Given the description of an element on the screen output the (x, y) to click on. 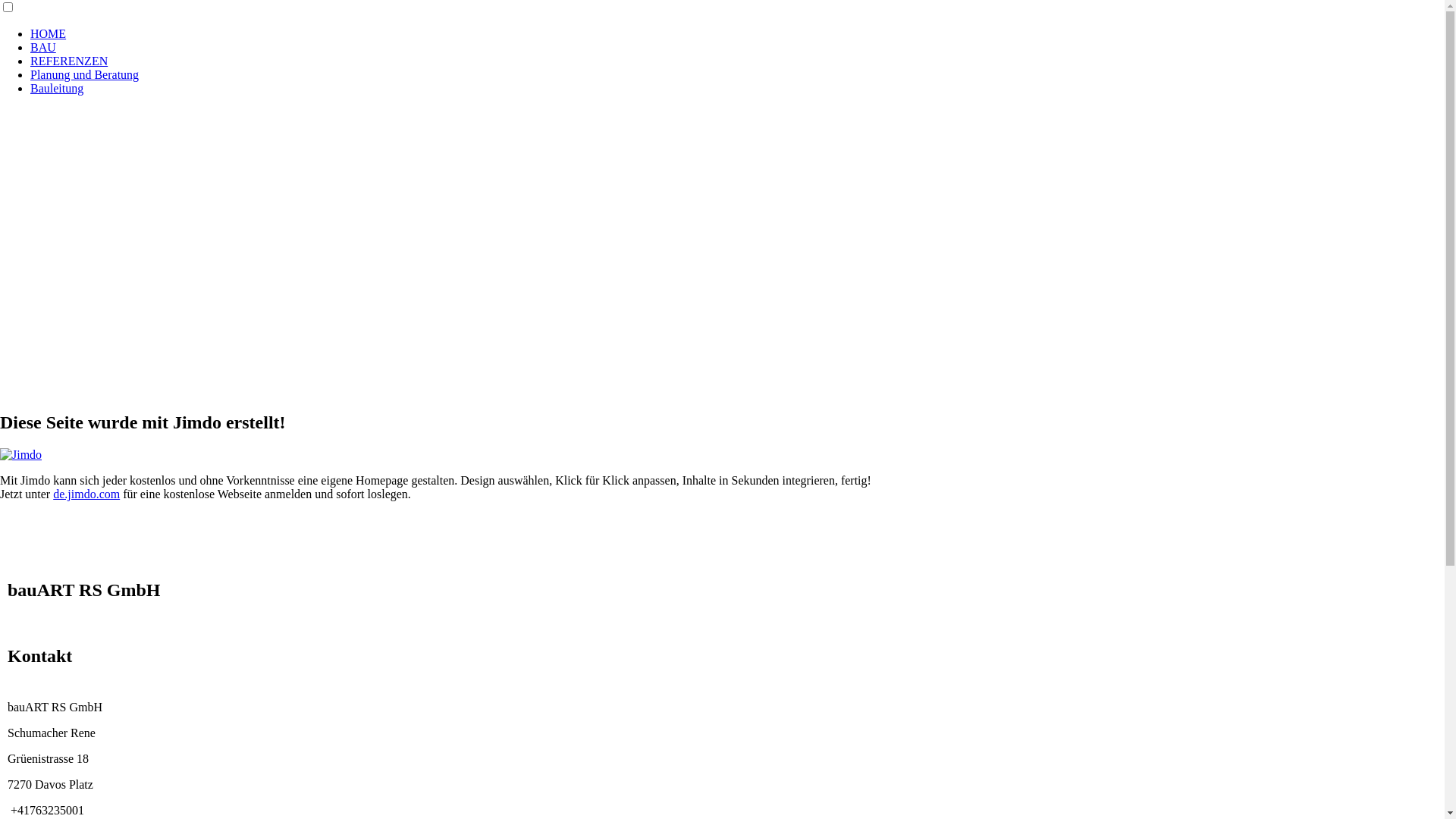
de.jimdo.com Element type: text (86, 493)
BAU Element type: text (43, 46)
Jimdo Element type: hover (20, 454)
Bauleitung Element type: text (56, 87)
HOME Element type: text (47, 33)
Planung und Beratung Element type: text (84, 74)
REFERENZEN Element type: text (68, 60)
